Given the description of an element on the screen output the (x, y) to click on. 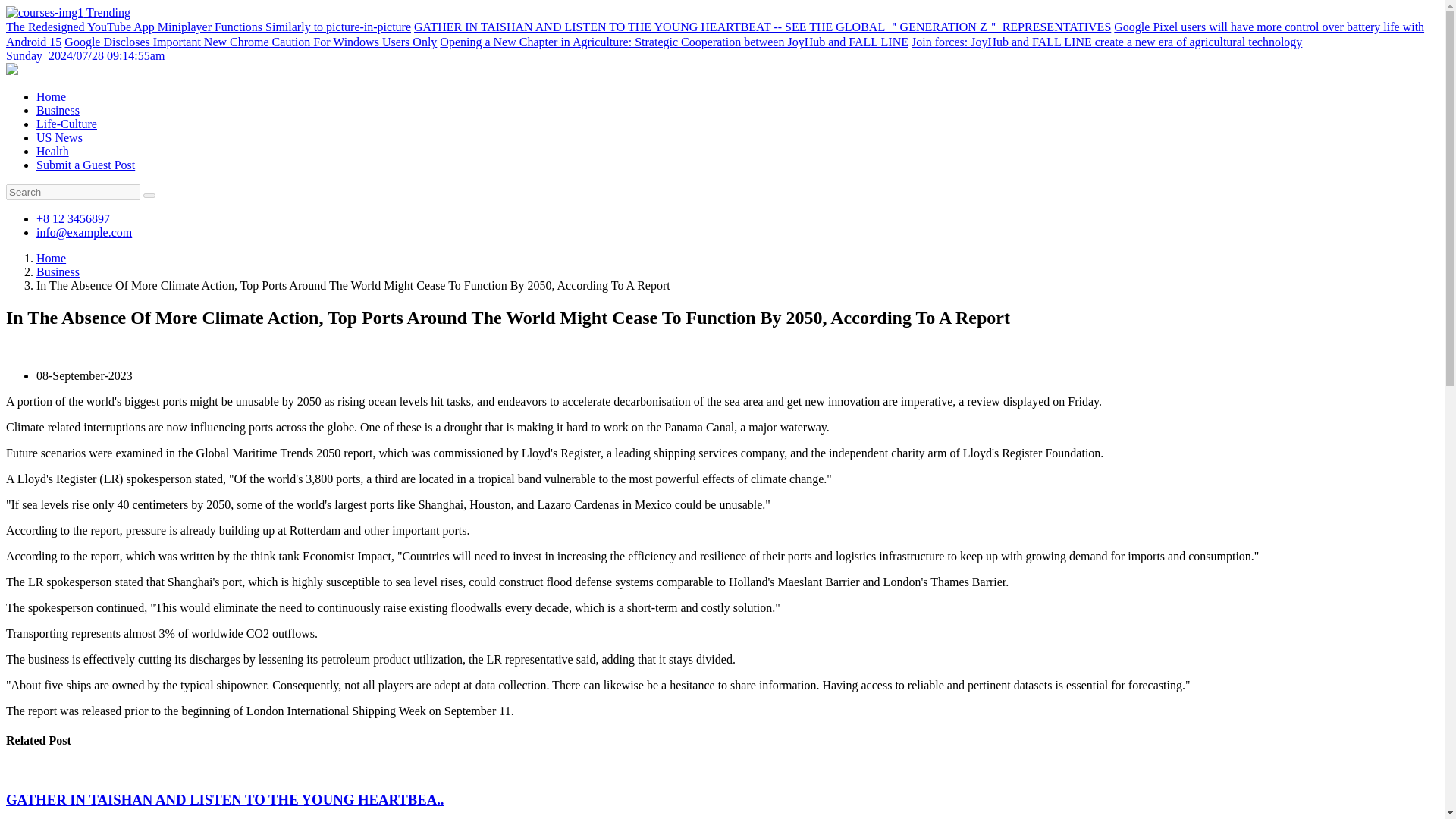
Business (58, 110)
Home (50, 257)
Submit a Guest Post (85, 164)
Health (52, 151)
US News (59, 137)
Home (50, 96)
GATHER IN TAISHAN AND LISTEN TO THE YOUNG HEARTBEA.. (224, 799)
Business (58, 271)
Trending (68, 11)
Life-Culture (66, 123)
